Given the description of an element on the screen output the (x, y) to click on. 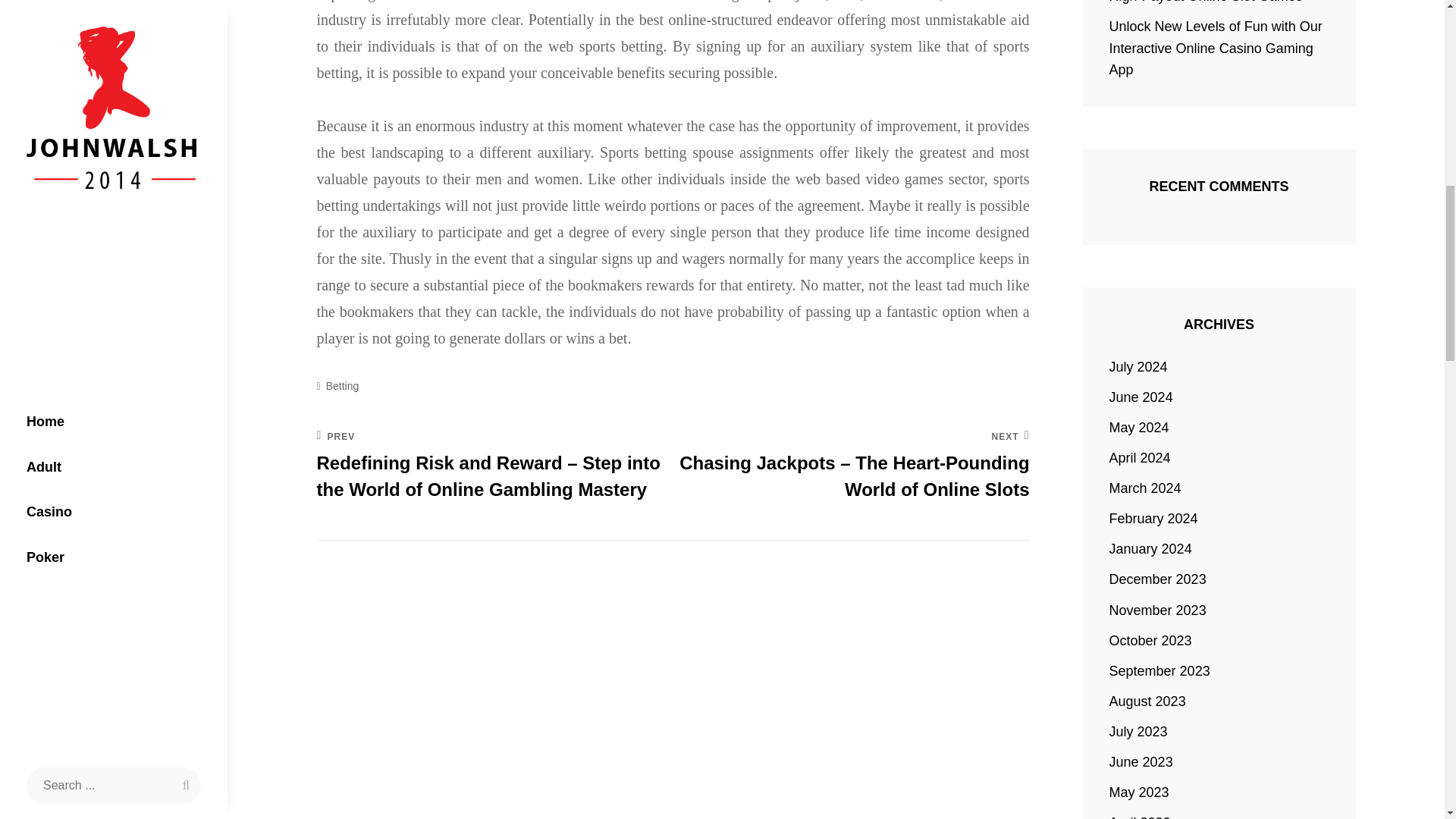
December 2023 (1158, 578)
May 2024 (1139, 427)
June 2023 (1141, 762)
July 2024 (1138, 366)
April 2024 (1139, 457)
February 2024 (1153, 518)
March 2024 (1144, 487)
November 2023 (1158, 608)
October 2023 (1150, 640)
June 2024 (1141, 396)
January 2024 (1150, 548)
August 2023 (1147, 701)
Betting (342, 385)
